Given the description of an element on the screen output the (x, y) to click on. 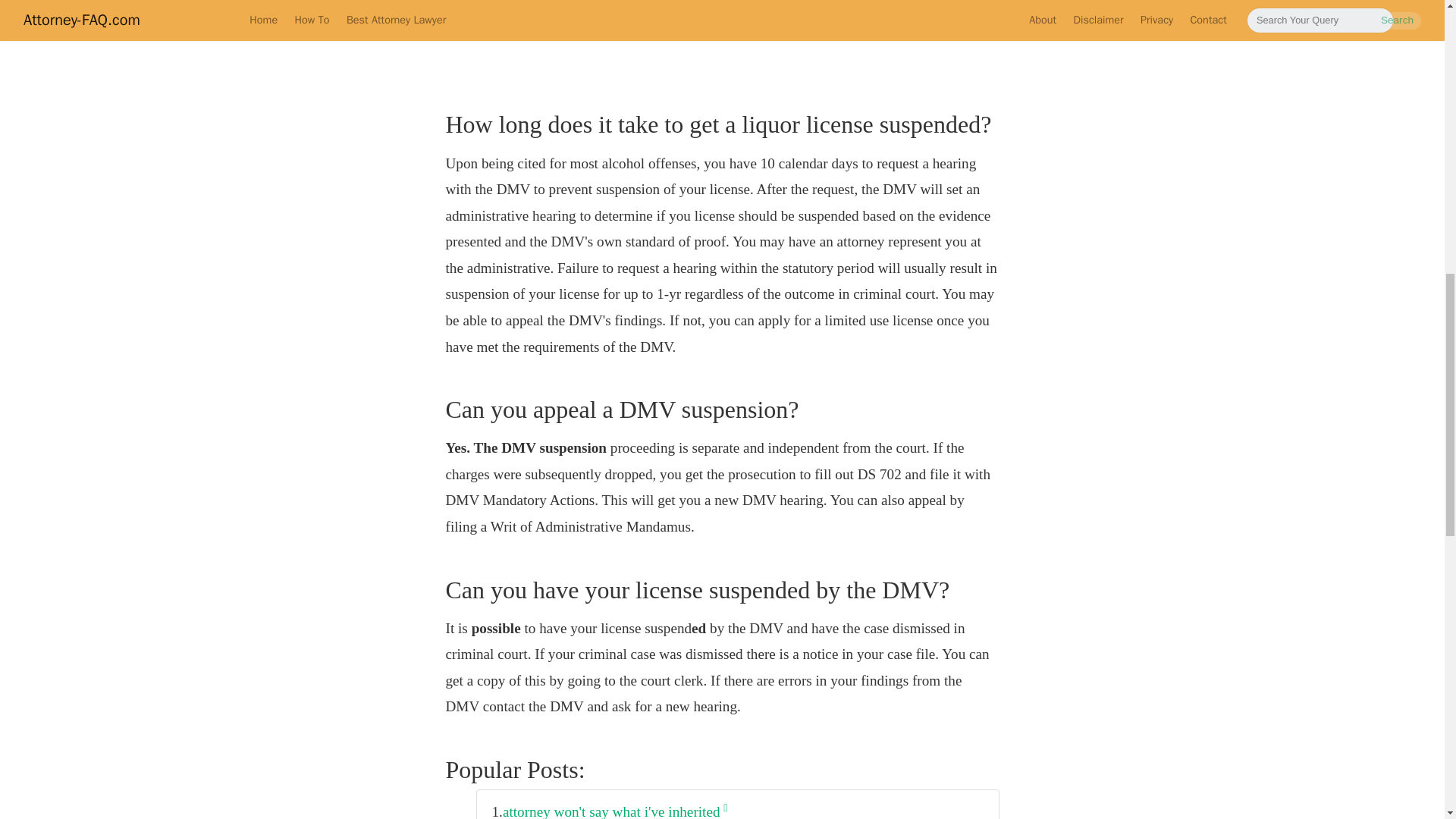
Advertisement (721, 37)
attorney won't say what i've inherited (615, 809)
attorney won't say what i've inherited (615, 809)
